Given the description of an element on the screen output the (x, y) to click on. 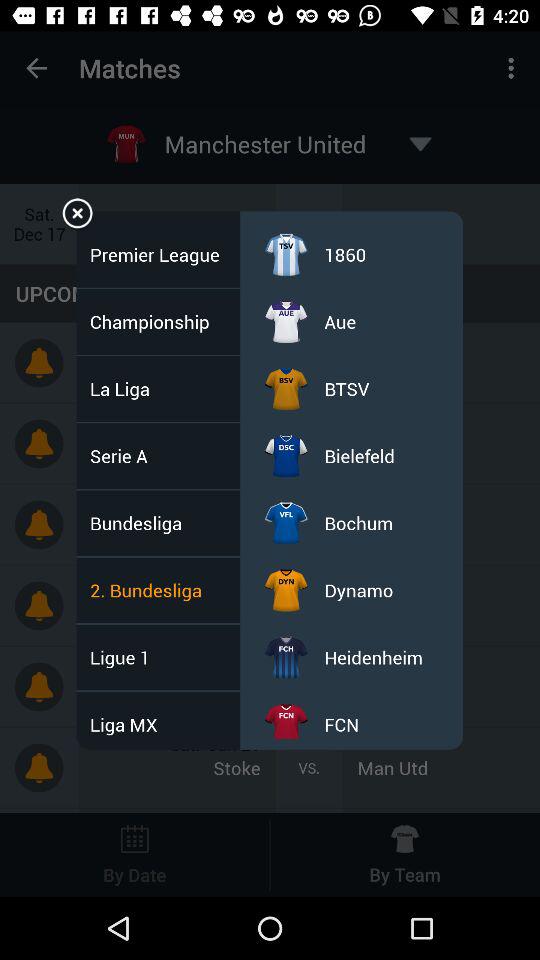
flip to the bielefeld (359, 455)
